Given the description of an element on the screen output the (x, y) to click on. 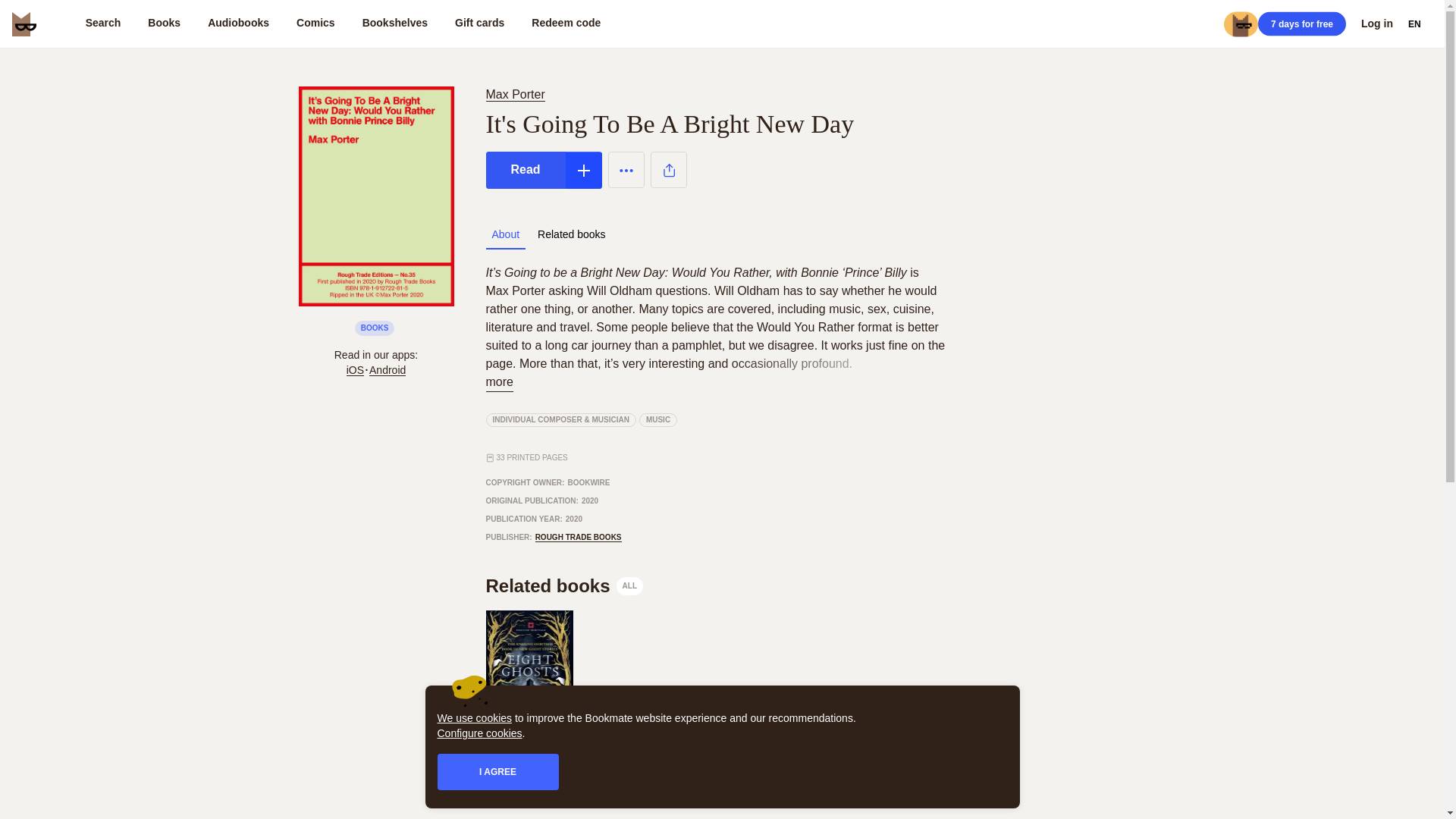
Eight Ghosts (528, 770)
Read (721, 698)
Max Porter (524, 169)
Jeanette Winterson (514, 94)
ROUGH TRADE BOOKS (603, 757)
Mark Haddon (578, 537)
Redeem code (516, 757)
7 days for free (565, 24)
Audiobooks (1301, 23)
Eight Ghosts (563, 586)
We use cookies (237, 24)
Mark Haddon, Jeanette Winterson, Sarah Perry, Max Porter (528, 770)
Gift cards (474, 717)
